Given the description of an element on the screen output the (x, y) to click on. 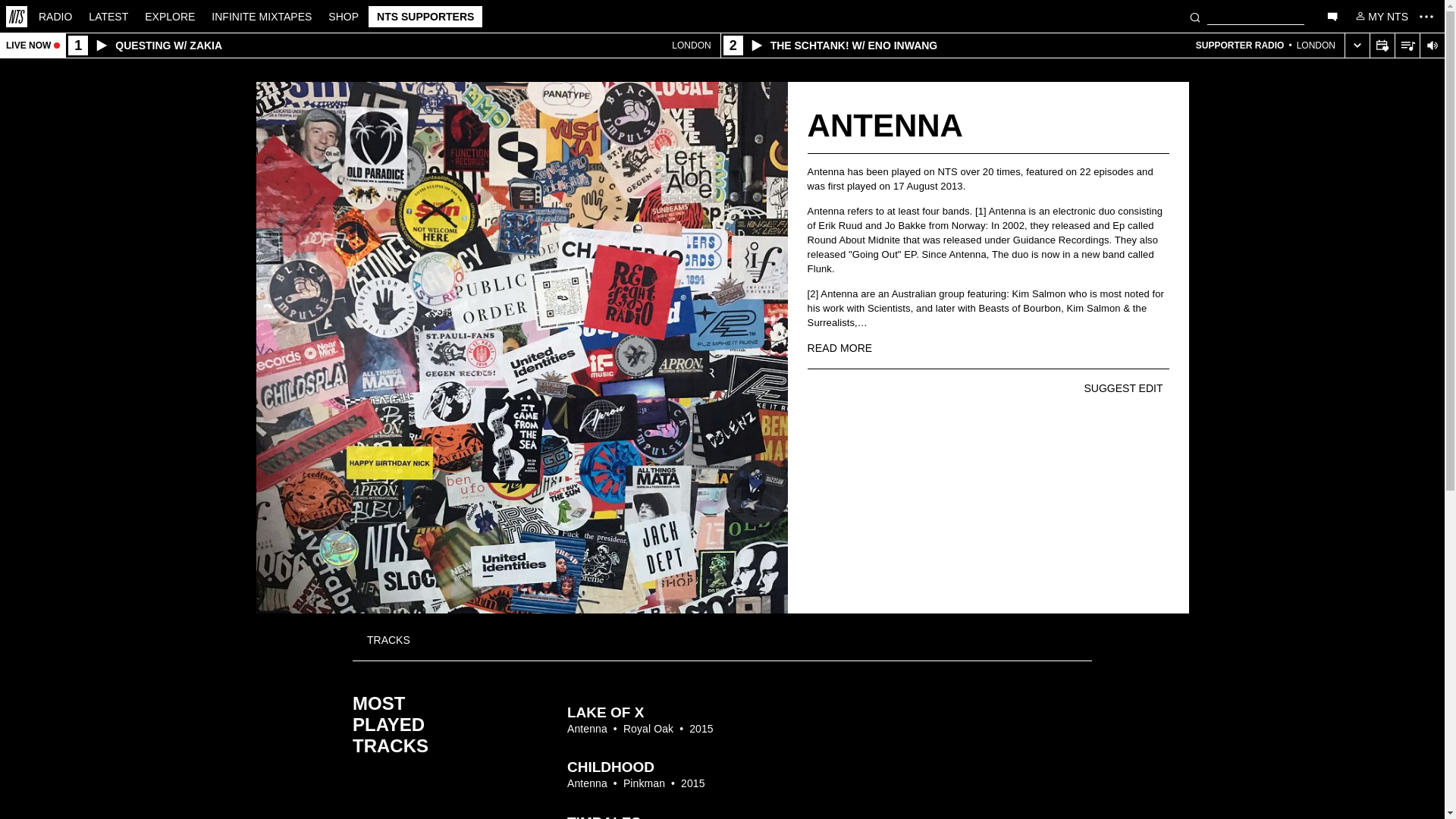
INFINITE MIXTAPES (261, 15)
NTS SUPPORTERS (424, 16)
Toggle navigation menu (1425, 16)
LATEST (108, 15)
SHOP (343, 15)
EXPLORE (169, 15)
MY NTS (1380, 15)
RADIO (55, 15)
